Given the description of an element on the screen output the (x, y) to click on. 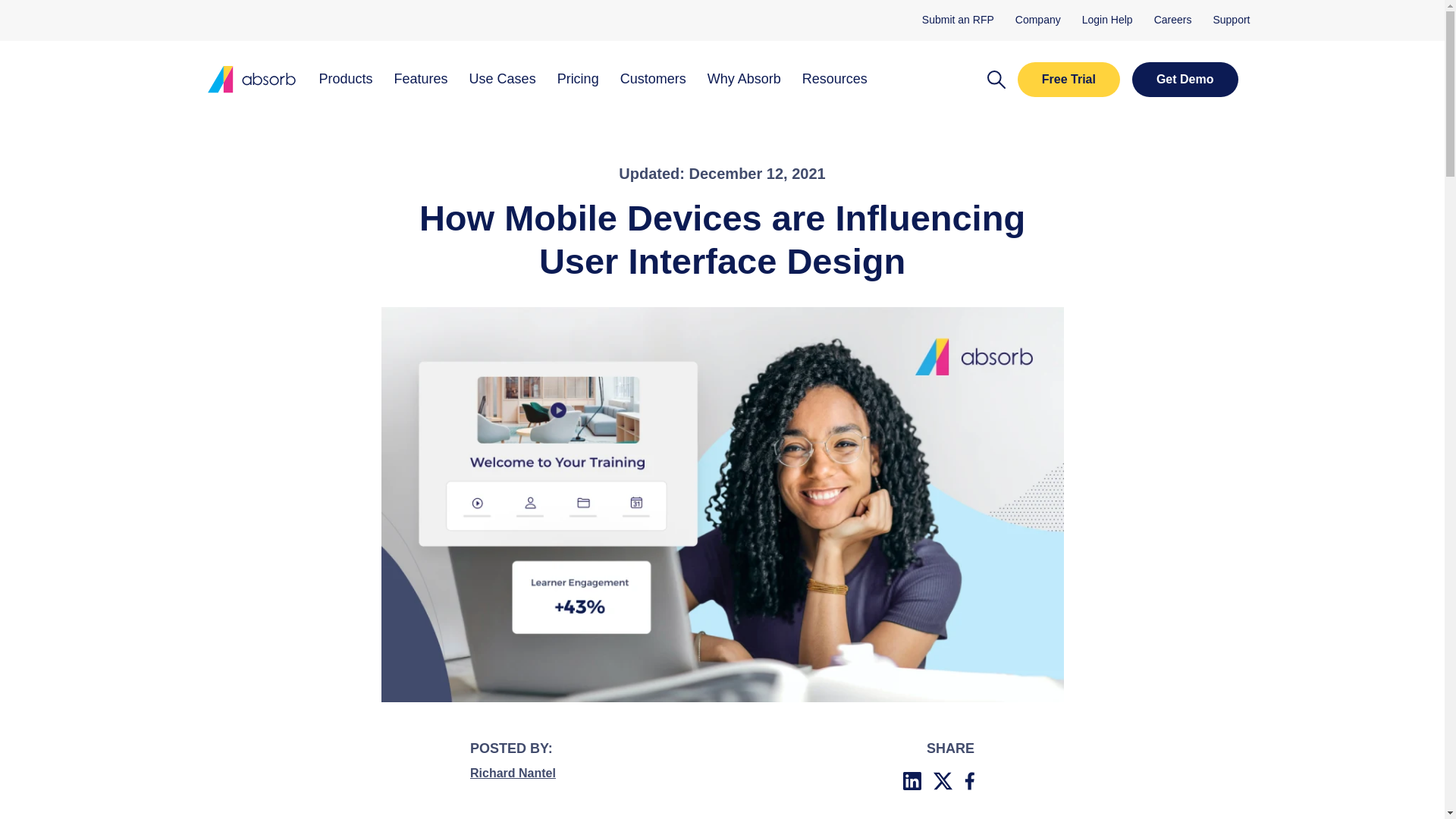
Compliance Training (627, 322)
Use Cases (501, 80)
Share on LinkedIn (911, 781)
Features (421, 80)
Smart Administration (475, 339)
Products (551, 322)
Share on Twitter (345, 80)
